Given the description of an element on the screen output the (x, y) to click on. 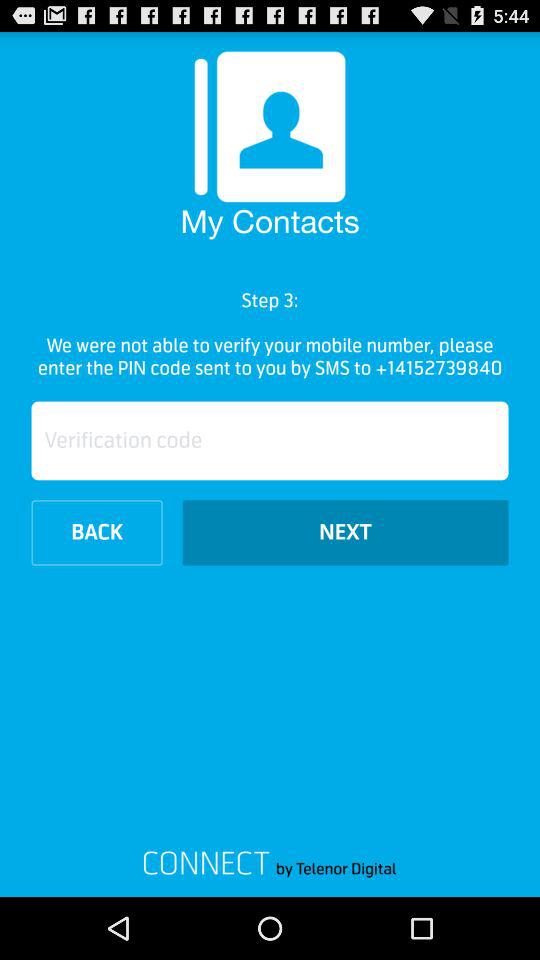
enter verification code (269, 440)
